Given the description of an element on the screen output the (x, y) to click on. 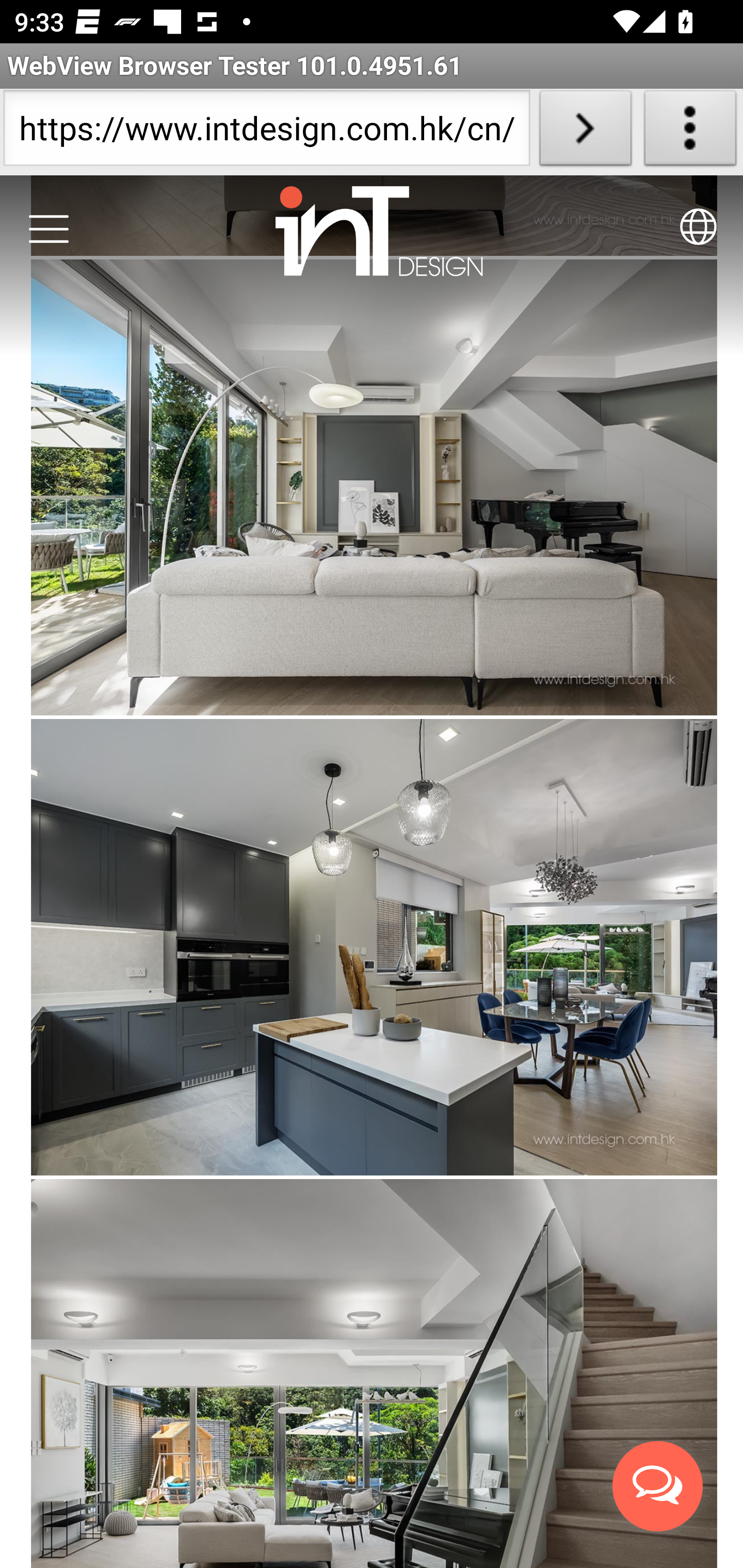
Load URL (585, 132)
About WebView (690, 132)
TheWoods_interiordesign_1 (373, 487)
TheWoods_interiordesign_7 (373, 947)
TheWoods_interiordesign_2 (373, 1373)
Open messengers list (657, 1487)
